Given the description of an element on the screen output the (x, y) to click on. 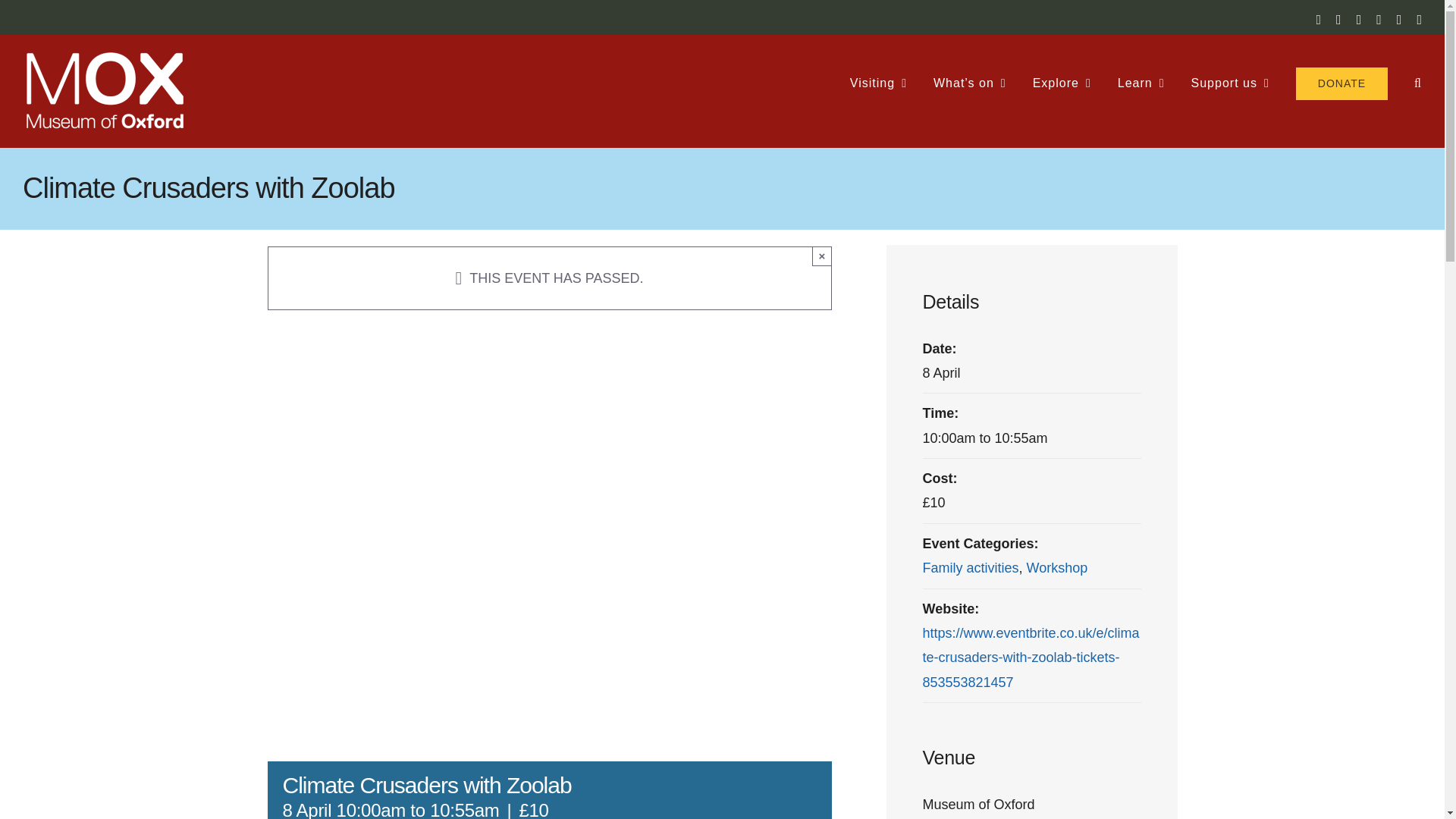
2024-04-08 (940, 372)
DONATE (1341, 83)
2024-04-08 (1030, 437)
